Given the description of an element on the screen output the (x, y) to click on. 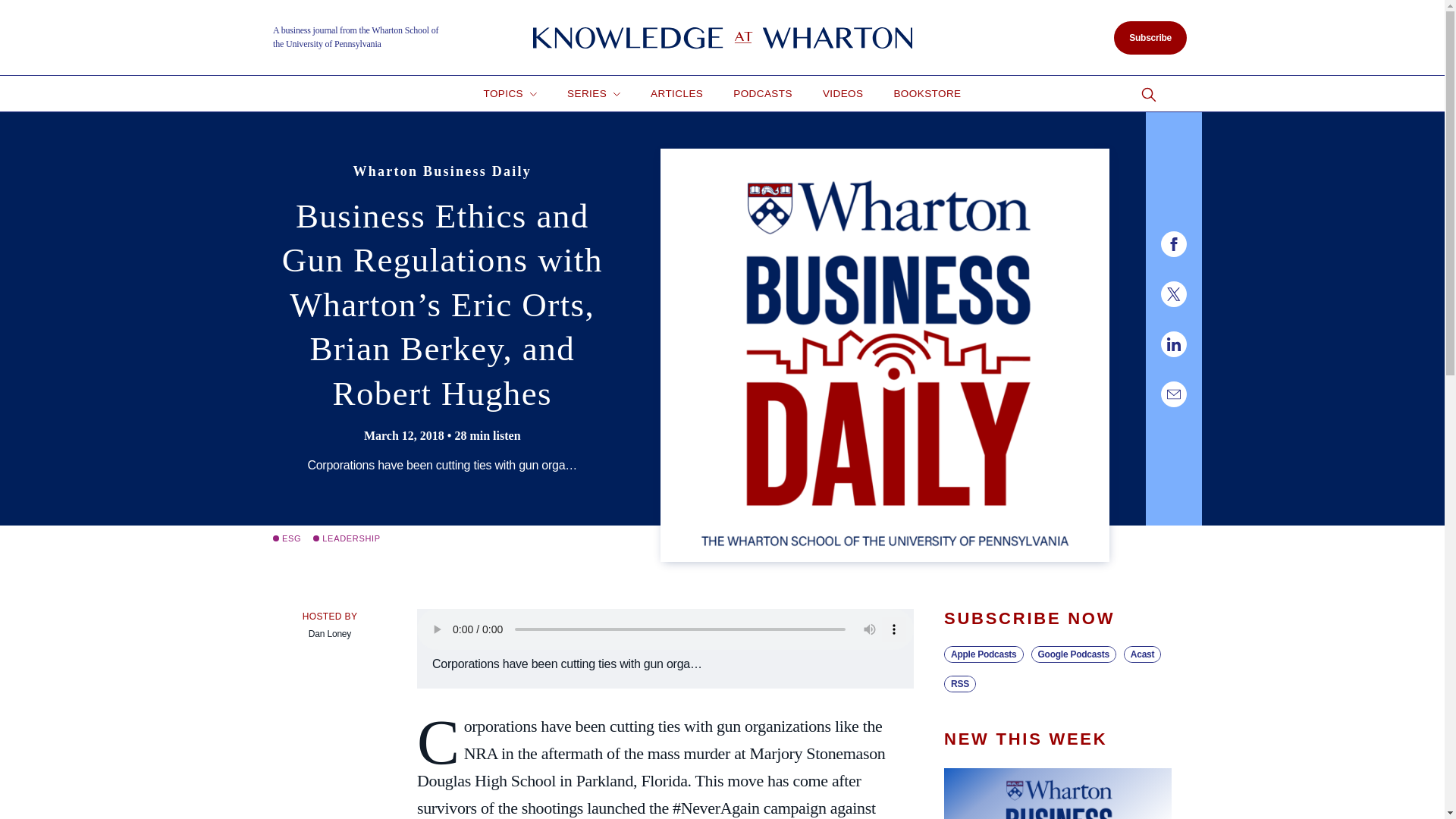
Knowledge at Wharton (721, 37)
Share this page on Twitter (1173, 294)
Go to site search (1148, 94)
Find the show on Google Podcasts (1073, 654)
Find the show on Apple Podcasts (983, 654)
Find the show on Acast (1142, 654)
Find the show on RSS (959, 683)
Share this page on LinkedIn (1173, 344)
Subscribe (1149, 37)
Share this page on Facebook (1173, 243)
